Given the description of an element on the screen output the (x, y) to click on. 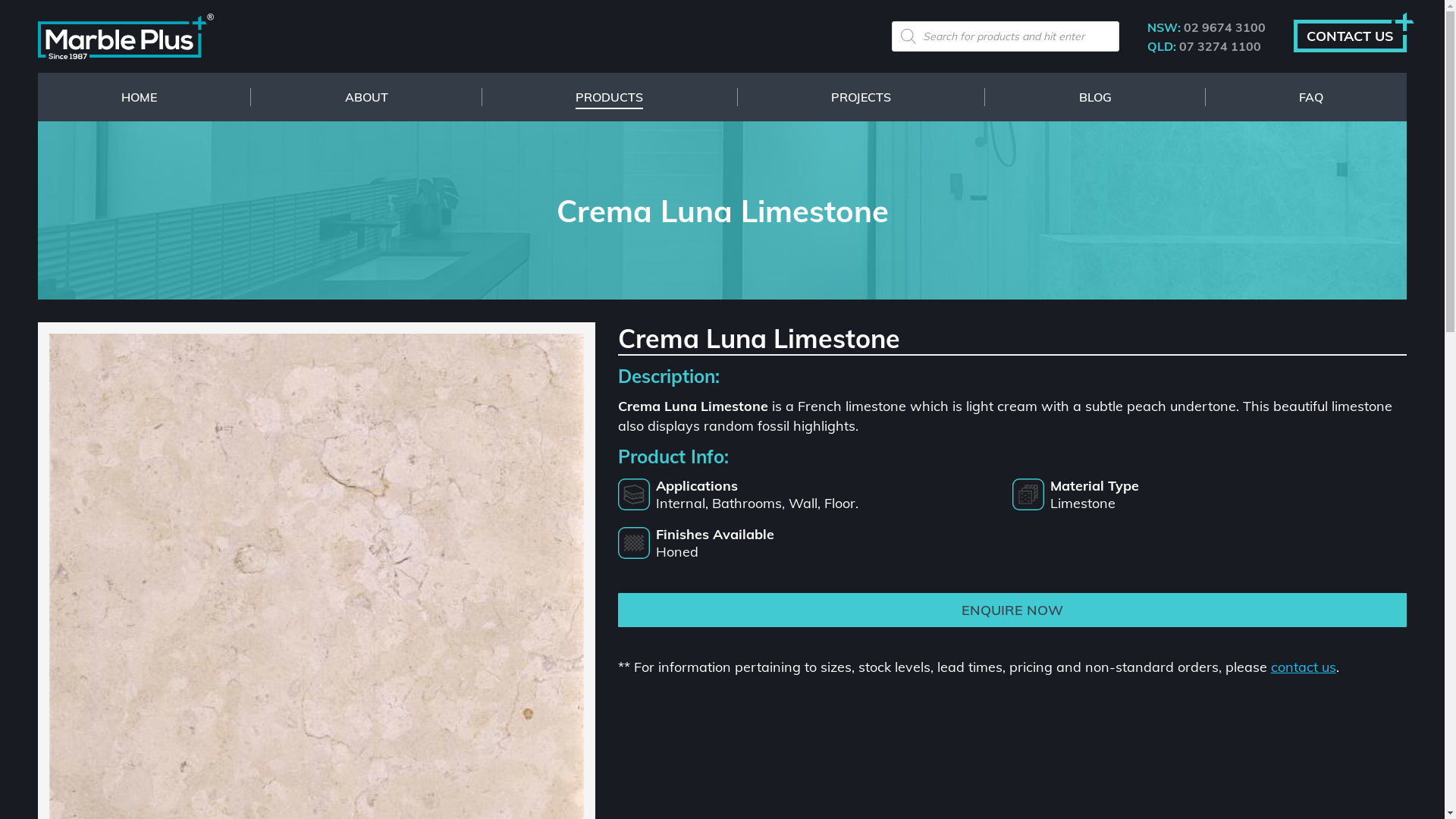
CONTACT US Element type: text (1349, 35)
ENQUIRE NOW Element type: text (1012, 610)
02 9674 3100 Element type: text (1222, 26)
HOME Element type: text (138, 96)
contact us Element type: text (1303, 666)
FAQ Element type: text (1310, 96)
BLOG Element type: text (1095, 96)
PROJECTS Element type: text (860, 96)
07 3274 1100 Element type: text (1218, 45)
ABOUT Element type: text (366, 96)
PRODUCTS Element type: text (609, 96)
